Given the description of an element on the screen output the (x, y) to click on. 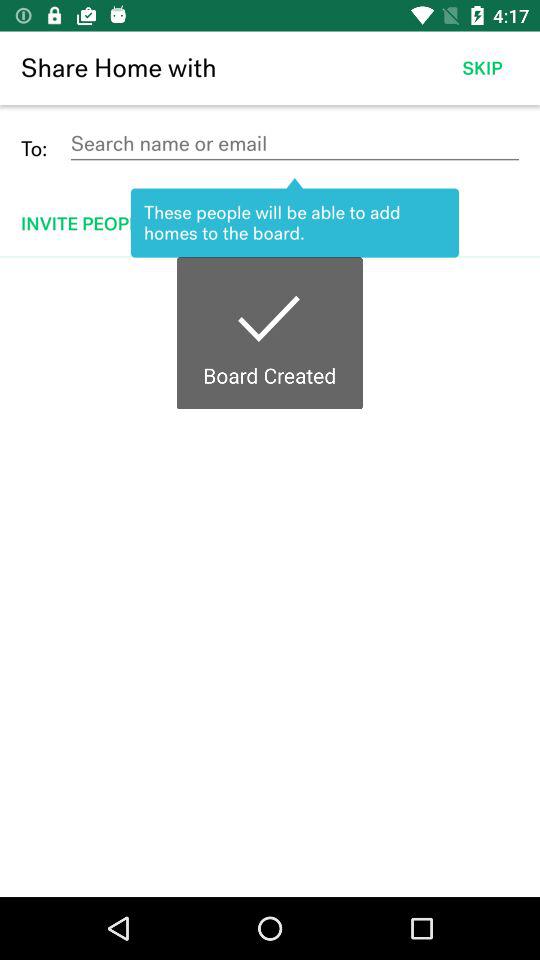
boardcreated (270, 577)
